Given the description of an element on the screen output the (x, y) to click on. 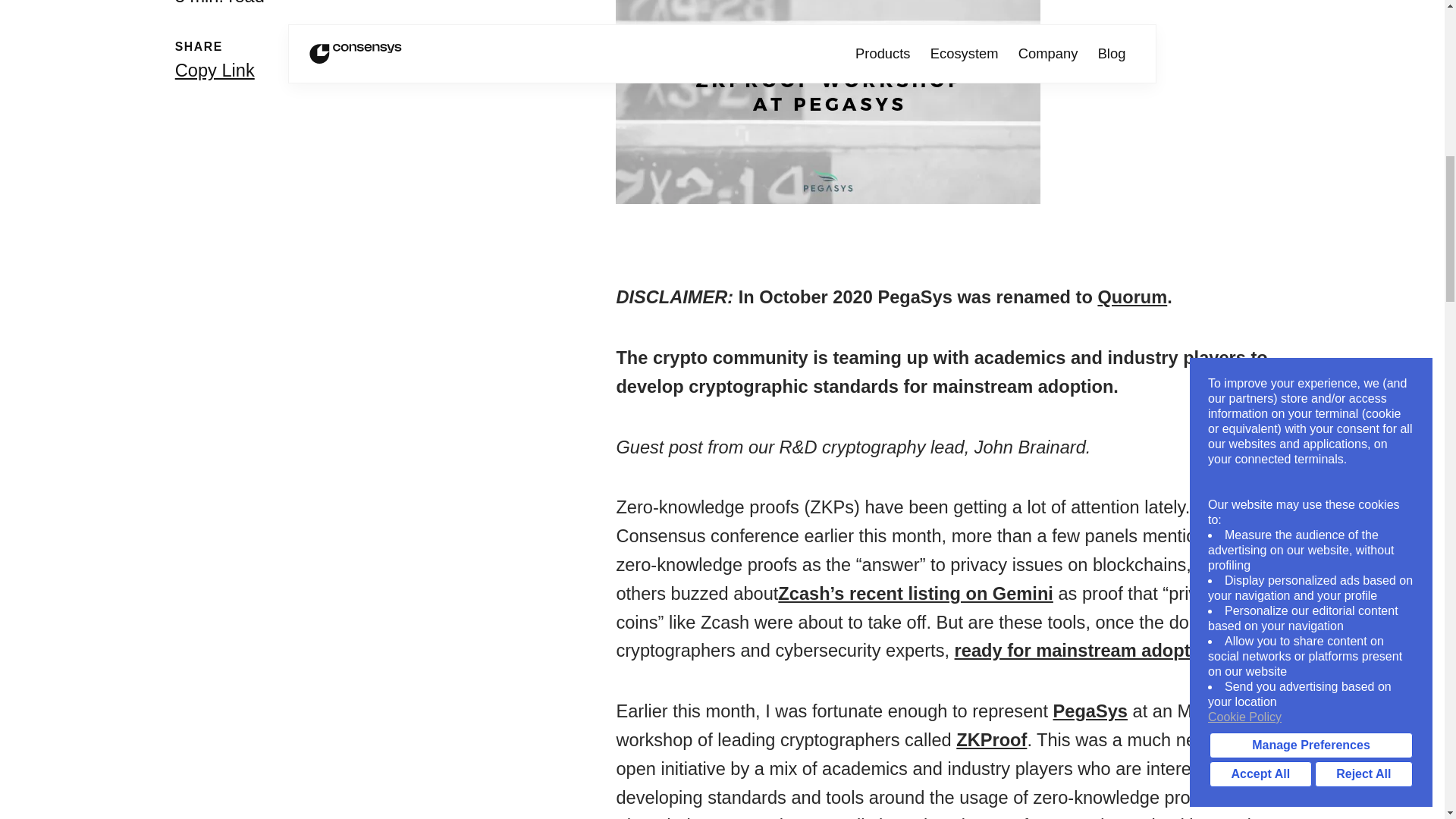
ZKProof (991, 740)
PegaSys (1089, 711)
ready for mainstream adoption (1086, 651)
Quorum (1132, 297)
Copy Link (214, 70)
